Given the description of an element on the screen output the (x, y) to click on. 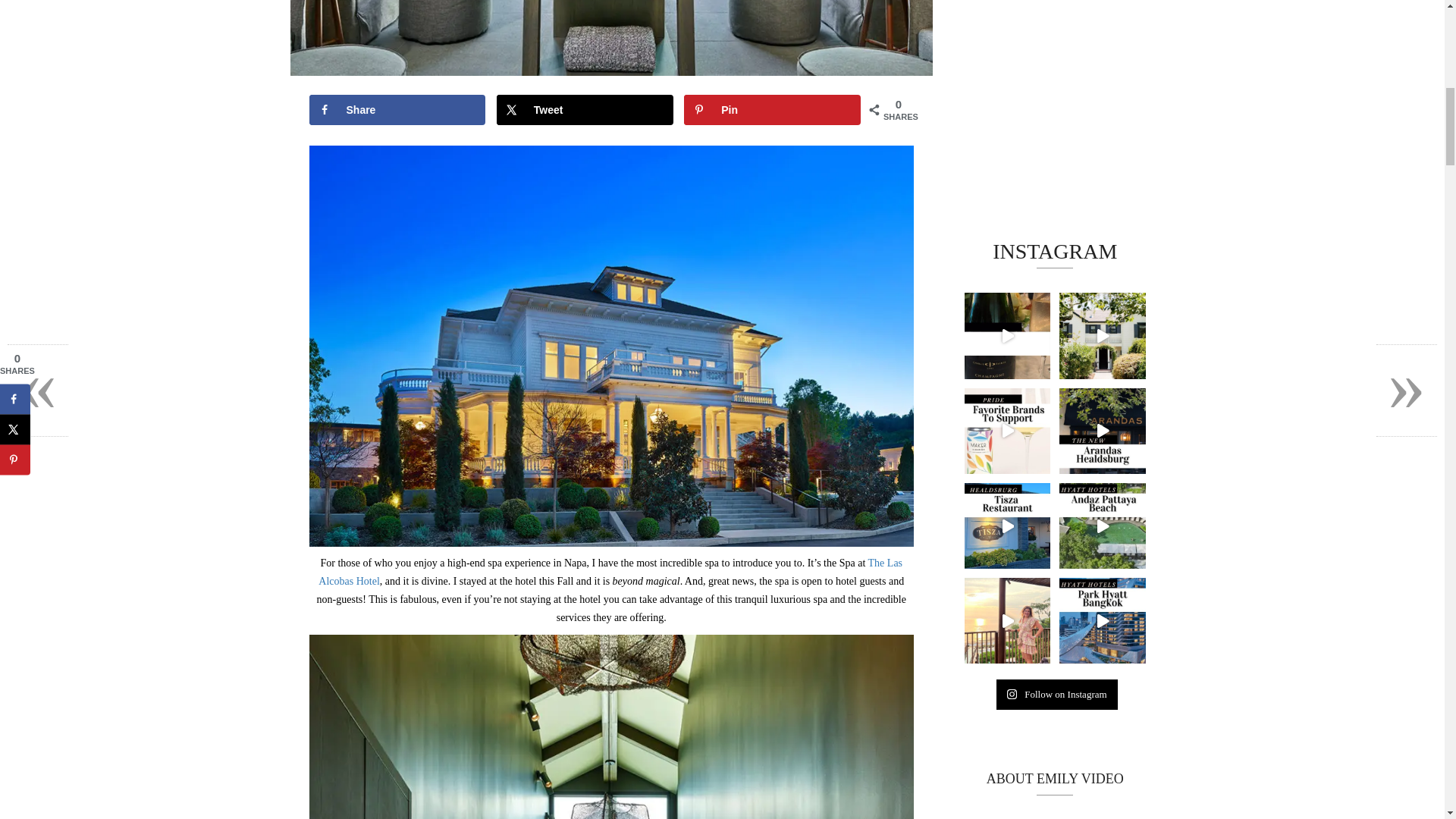
Share on Facebook (397, 110)
Save to Pinterest (772, 110)
Share on X (584, 110)
